Given the description of an element on the screen output the (x, y) to click on. 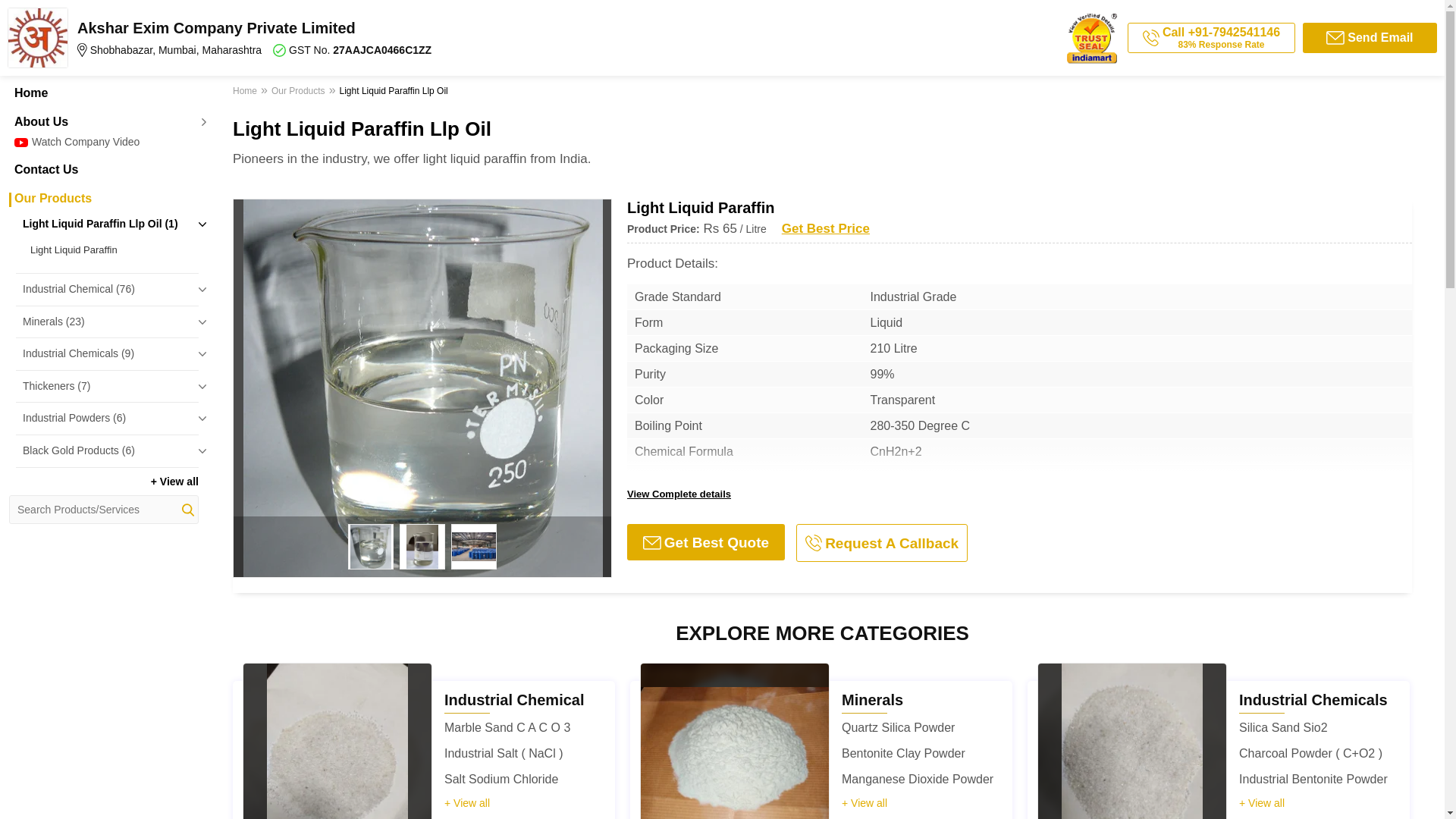
Contact Us (103, 169)
Home (103, 92)
About Us (103, 121)
Our Products (103, 198)
Light Liquid Paraffin (110, 250)
